Given the description of an element on the screen output the (x, y) to click on. 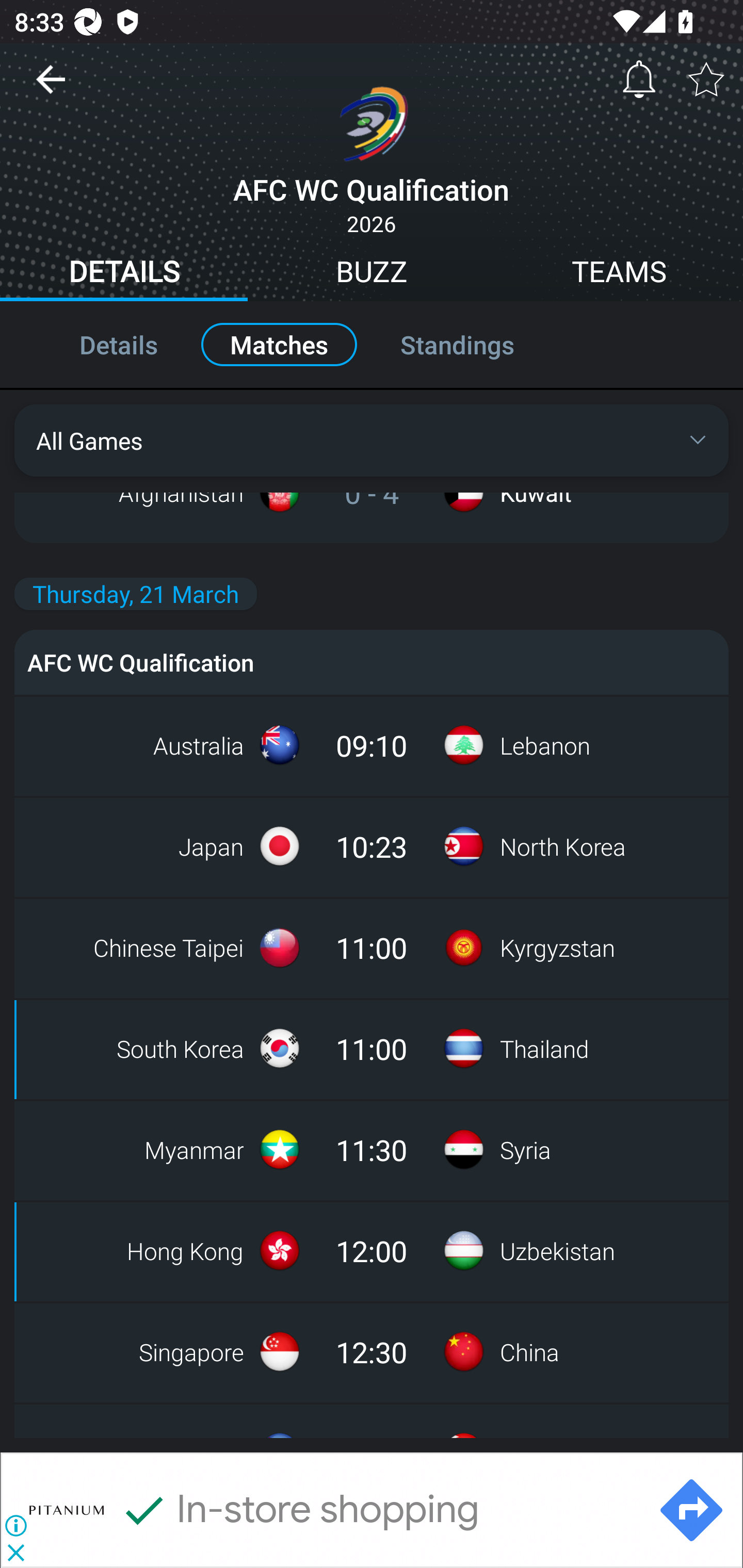
Navigate up (50, 86)
DETAILS (123, 274)
BUZZ (371, 274)
TEAMS (619, 274)
Details (96, 344)
Standings (478, 344)
All Games (371, 440)
AFC WC Qualification (371, 662)
Australia 09:10 Lebanon (371, 745)
Japan 10:23 North Korea (371, 846)
Chinese Taipei 11:00 Kyrgyzstan (371, 947)
South Korea 11:00 Thailand (371, 1048)
Myanmar 11:30 Syria (371, 1149)
Hong Kong 12:00 Uzbekistan (371, 1250)
Singapore 12:30 China (371, 1351)
超瘋狂預購 48小時 Pitanium MOKO 超瘋狂預購 48小時 (379, 1509)
In-store shopping (298, 1510)
